Given the description of an element on the screen output the (x, y) to click on. 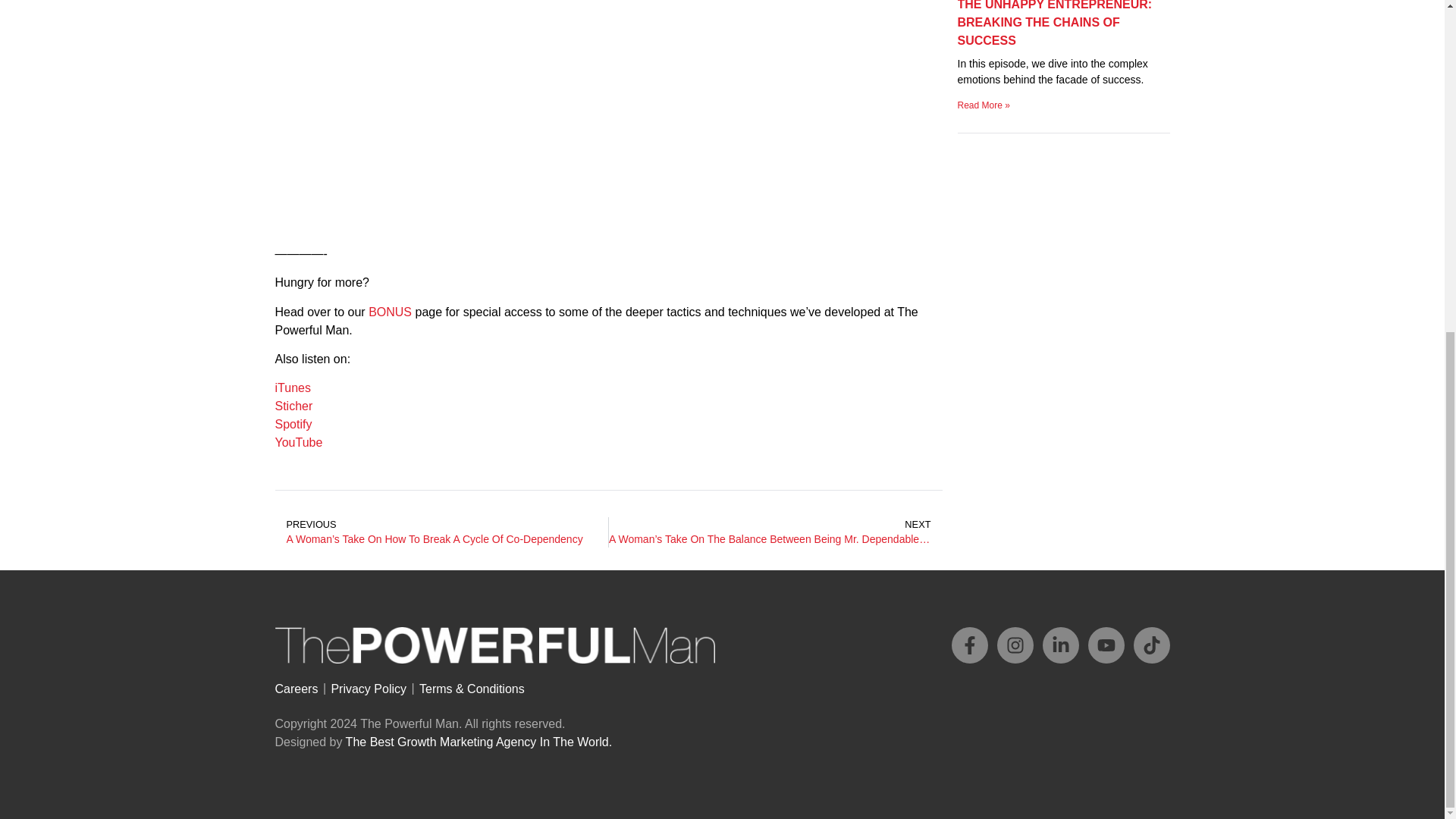
iTunes (292, 387)
YouTube (298, 441)
BONUS (390, 311)
Spotify (293, 423)
Sticher (294, 405)
